Given the description of an element on the screen output the (x, y) to click on. 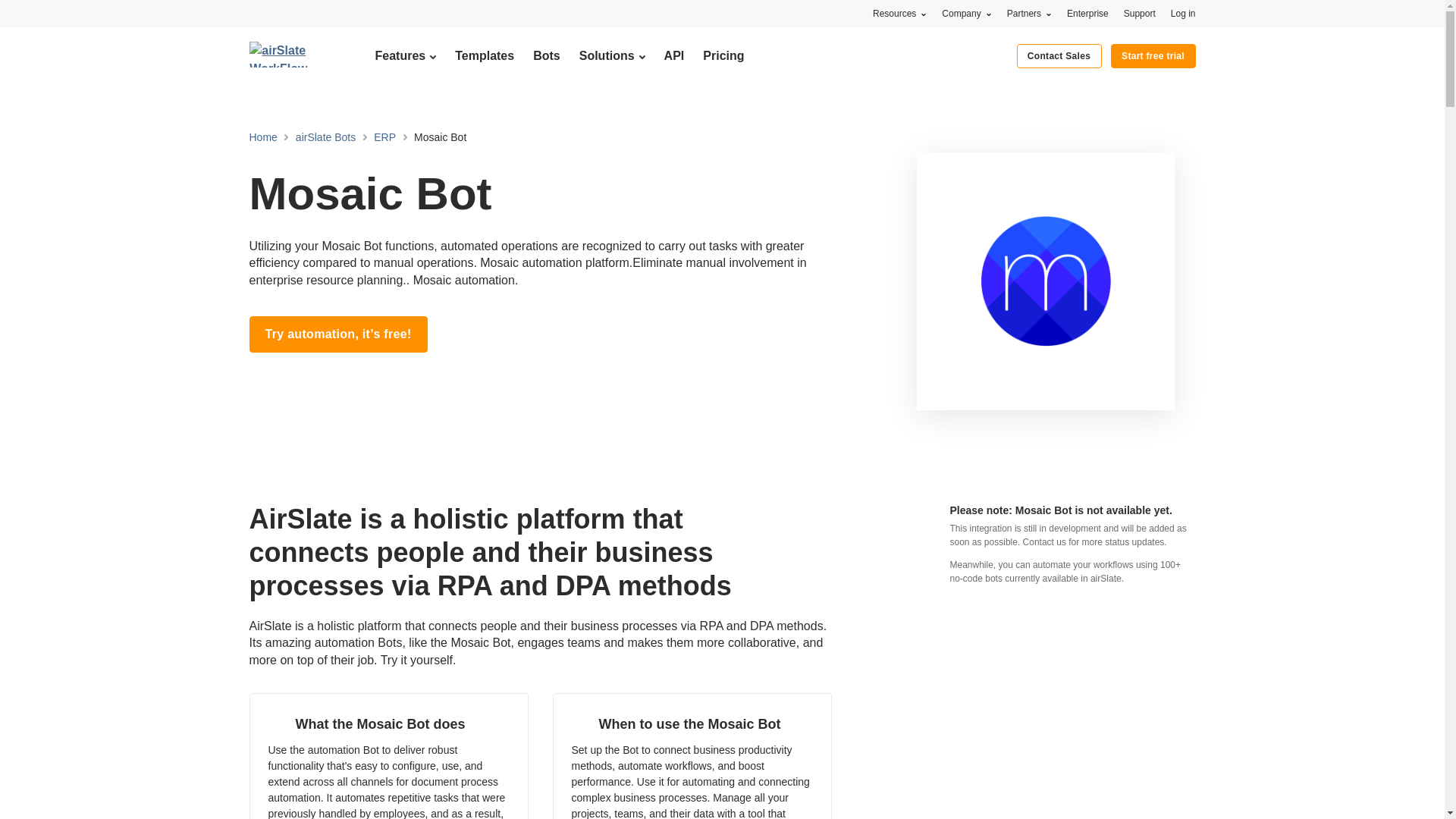
Enterprise (1087, 13)
Partners (1029, 13)
Log in (1182, 13)
Templates (483, 55)
Resources (899, 13)
Company (966, 13)
Support (1140, 13)
